Given the description of an element on the screen output the (x, y) to click on. 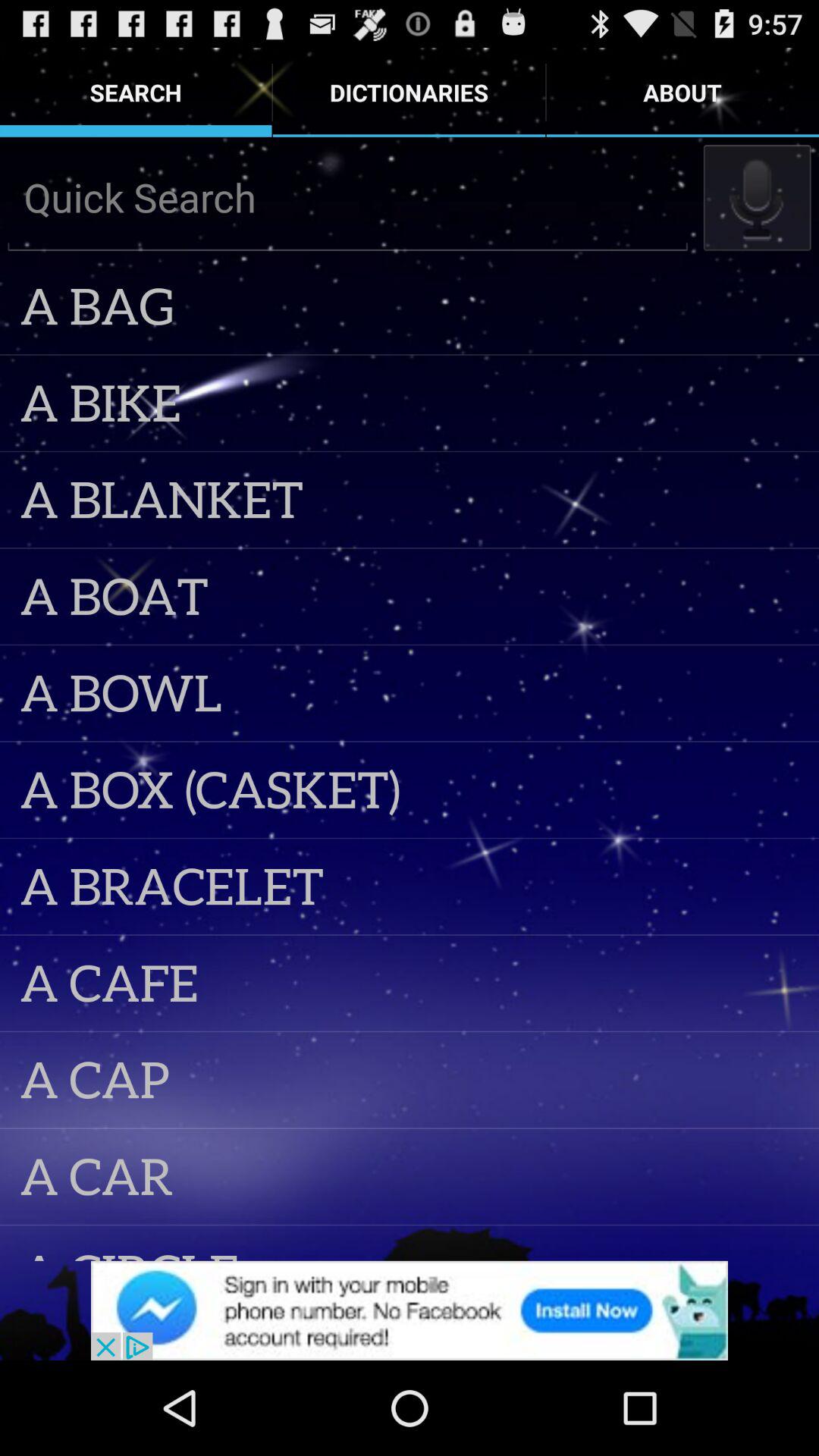
banner advertisement (409, 1310)
